Given the description of an element on the screen output the (x, y) to click on. 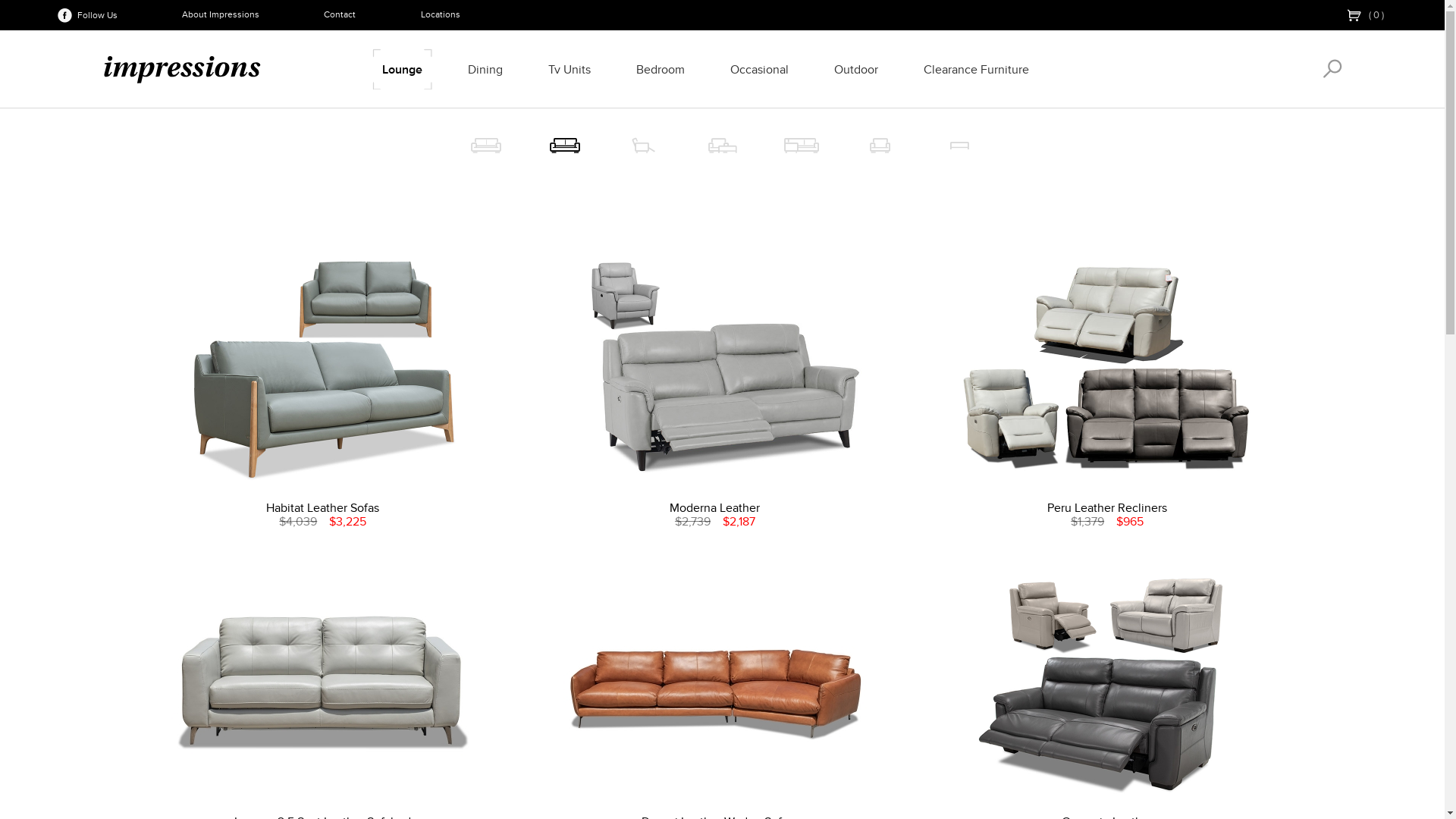
Ottomans Element type: text (936, 144)
Contact Element type: text (339, 14)
Sofabed Element type: text (485, 144)
Occasional Element type: text (759, 68)
About Impressions Element type: text (220, 14)
Follow Us Element type: text (85, 14)
Search Element type: text (1332, 68)
Chaises Element type: text (700, 144)
Outdoor Element type: text (856, 68)
Recliner Suites Element type: text (621, 144)
Lounge Element type: text (402, 68)
Skip to main content Element type: text (54, 0)
Locations Element type: text (440, 14)
Modulars Element type: text (779, 144)
Clearance Furniture Element type: text (975, 68)
Chairs Element type: text (858, 144)
Bedroom Element type: text (660, 68)
Tv Units Element type: text (569, 68)
Dining Element type: text (485, 68)
Sofas Element type: text (542, 144)
